Given the description of an element on the screen output the (x, y) to click on. 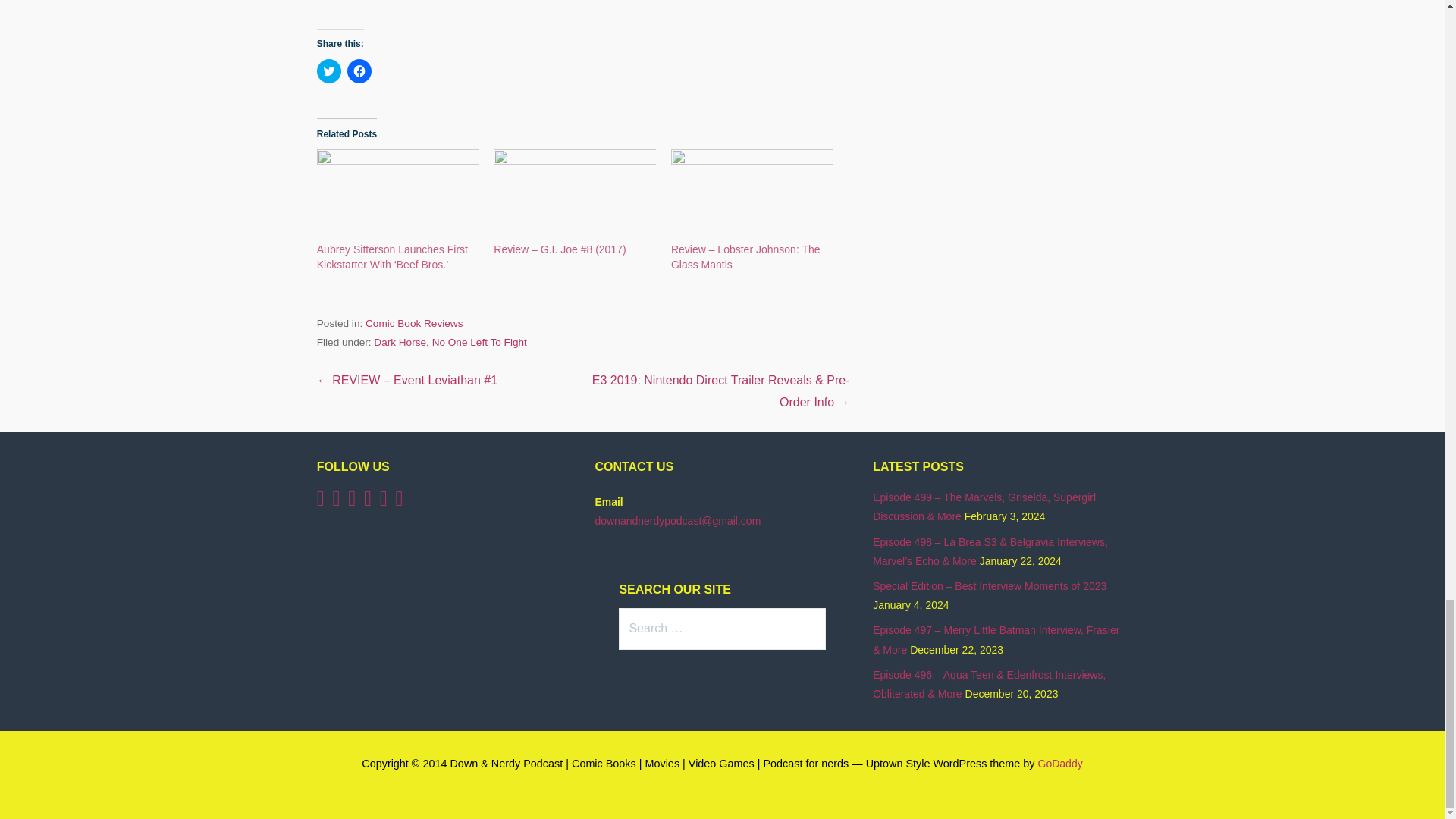
No One Left To Fight (479, 342)
Click to share on Facebook (359, 70)
Dark Horse (400, 342)
Comic Book Reviews (414, 323)
Click to share on Twitter (328, 70)
